Given the description of an element on the screen output the (x, y) to click on. 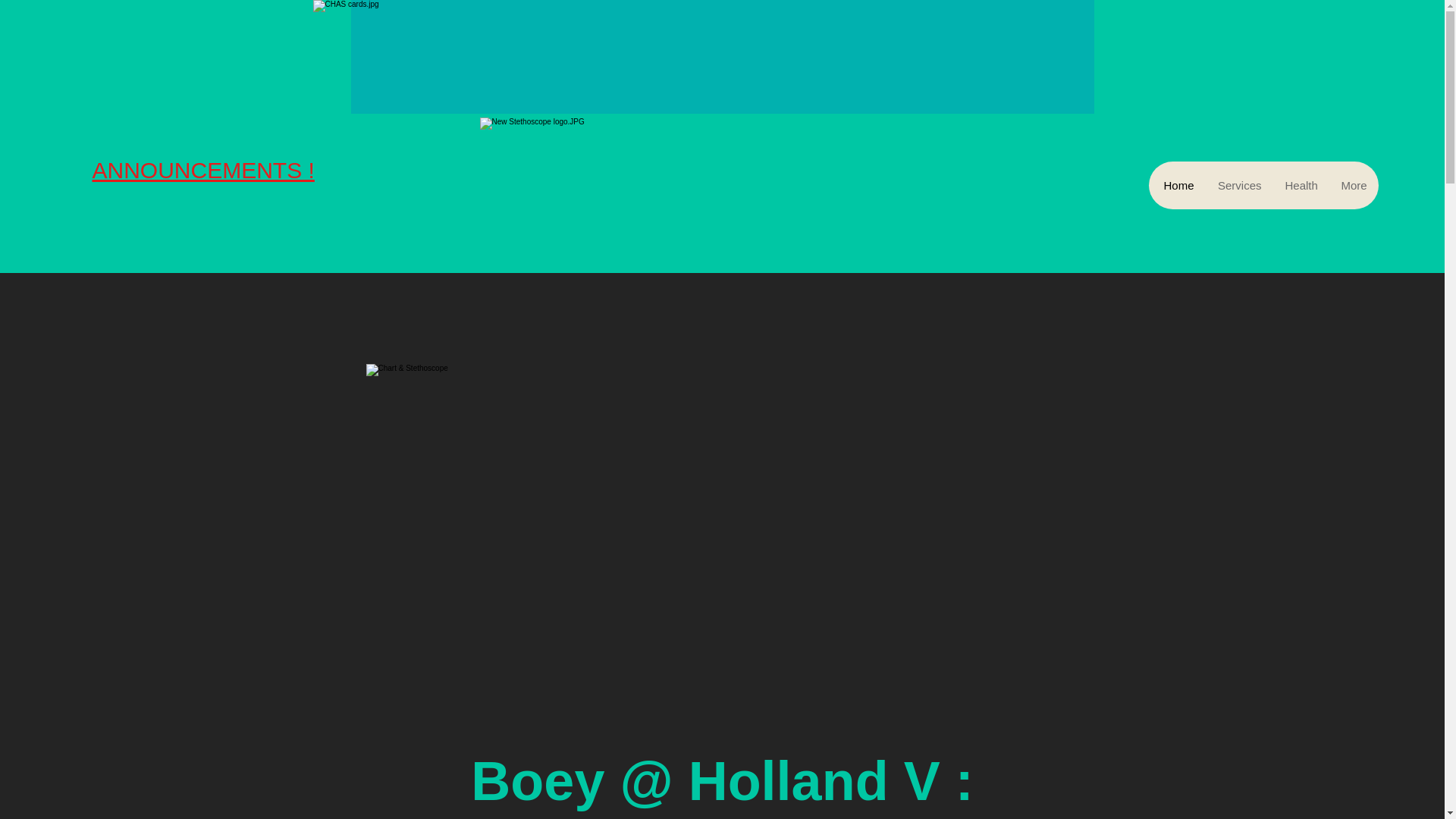
ANNOUNCEMENTS ! (203, 170)
Services (1238, 185)
Home (1178, 185)
Health (1299, 185)
